Given the description of an element on the screen output the (x, y) to click on. 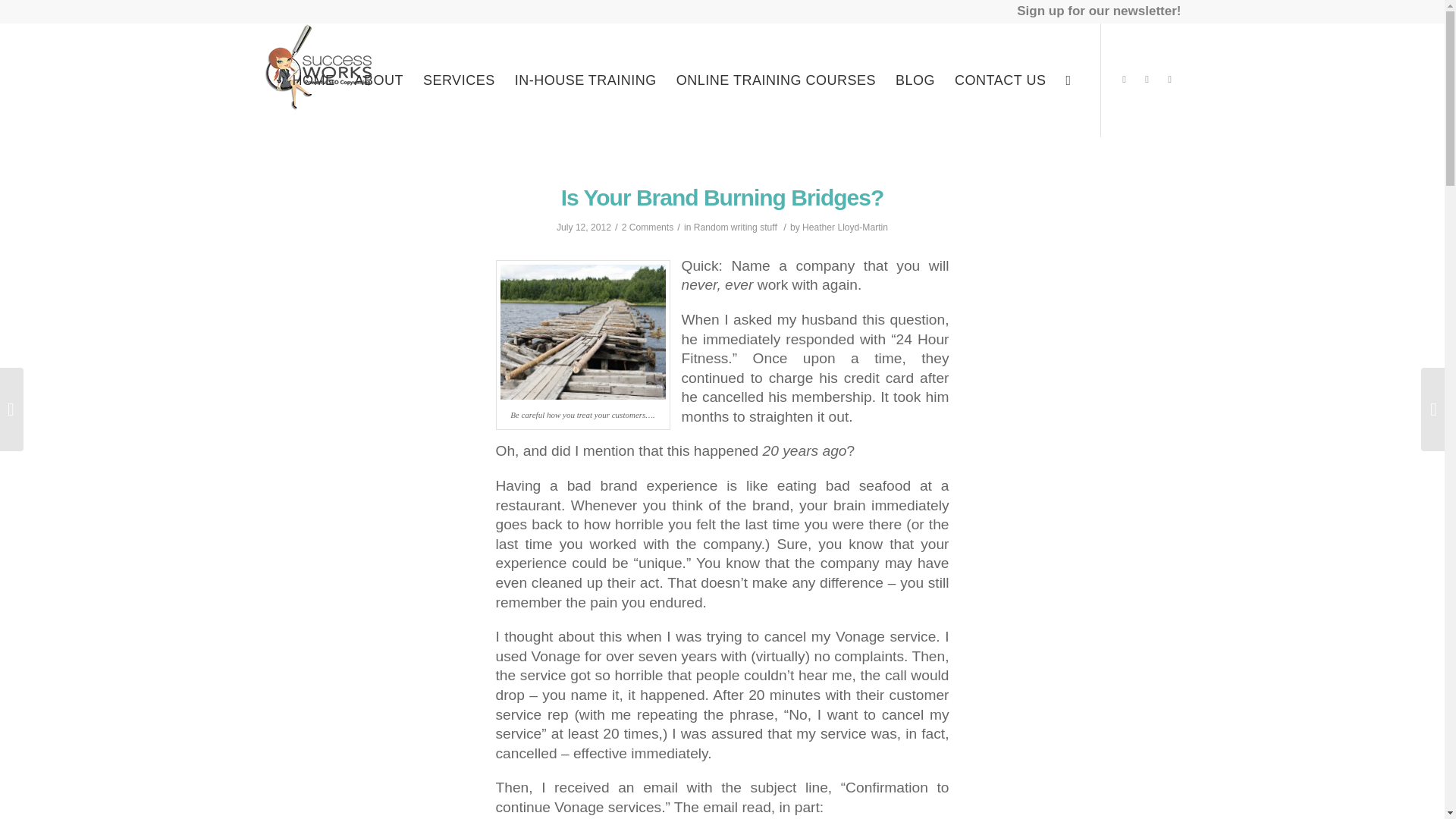
2 Comments (647, 226)
Heather Lloyd-Martin (845, 226)
Is Your Brand Burning Bridges? (721, 197)
Random writing stuff (735, 226)
LinkedIn (1146, 78)
Sign up for our newsletter! (1098, 9)
CONTACT US (999, 80)
In-House Training (585, 80)
Permanent Link: Is Your Brand Burning Bridges? (721, 197)
ONLINE TRAINING COURSES (775, 80)
Twitter (1124, 78)
Does your brand burn bridges? (582, 332)
Facebook (1169, 78)
IN-HOUSE TRAINING (585, 80)
Online SEO Copywriting Courses (775, 80)
